Given the description of an element on the screen output the (x, y) to click on. 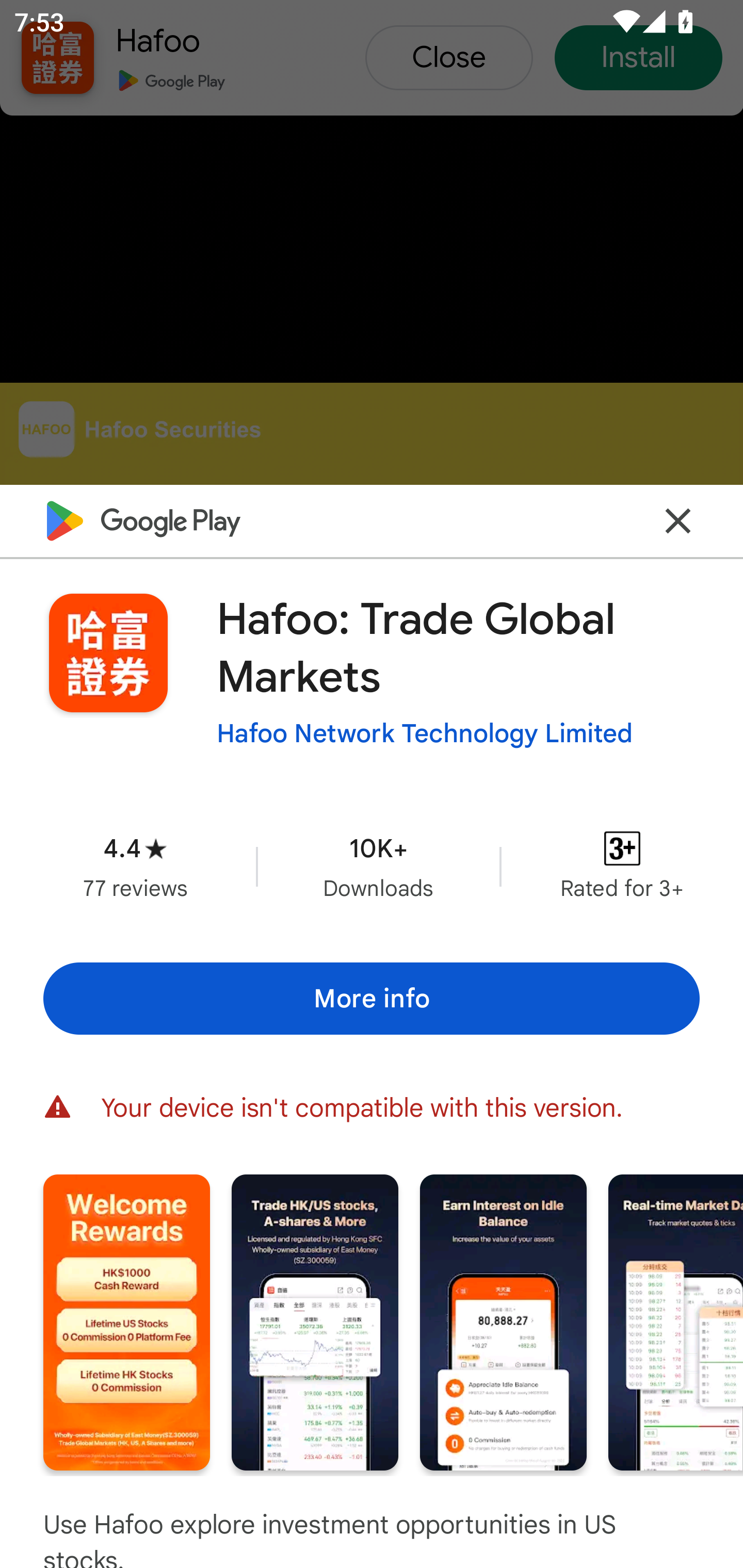
Close (677, 520)
Hafoo Network Technology Limited (424, 732)
More info (371, 998)
Screenshot "1" of "8" (126, 1322)
Screenshot "2" of "8" (314, 1322)
Screenshot "3" of "8" (502, 1322)
Screenshot "4" of "8" (675, 1322)
